Given the description of an element on the screen output the (x, y) to click on. 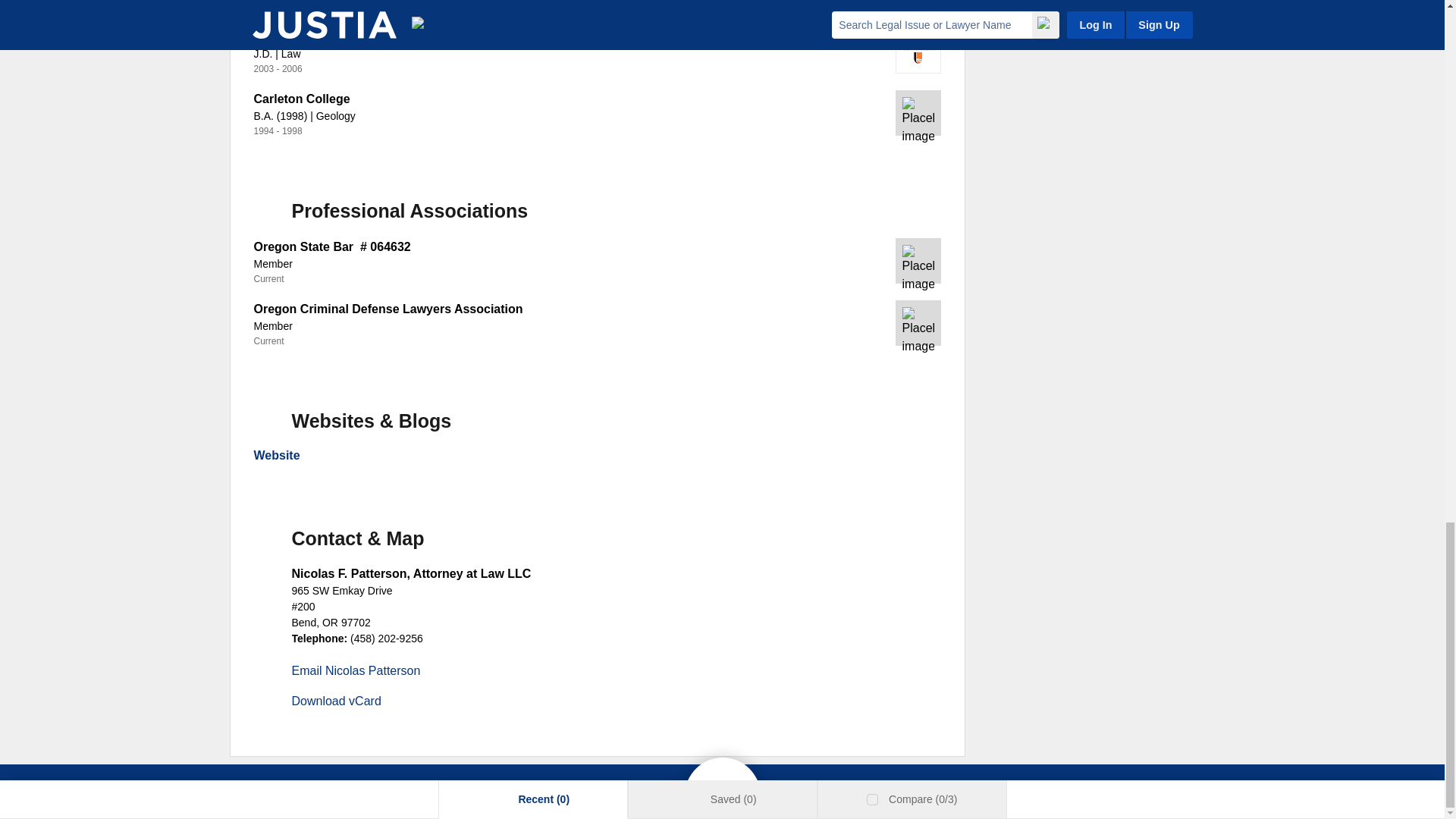
Website (276, 454)
Download vCard (335, 700)
Email Nicolas Patterson (355, 670)
